Given the description of an element on the screen output the (x, y) to click on. 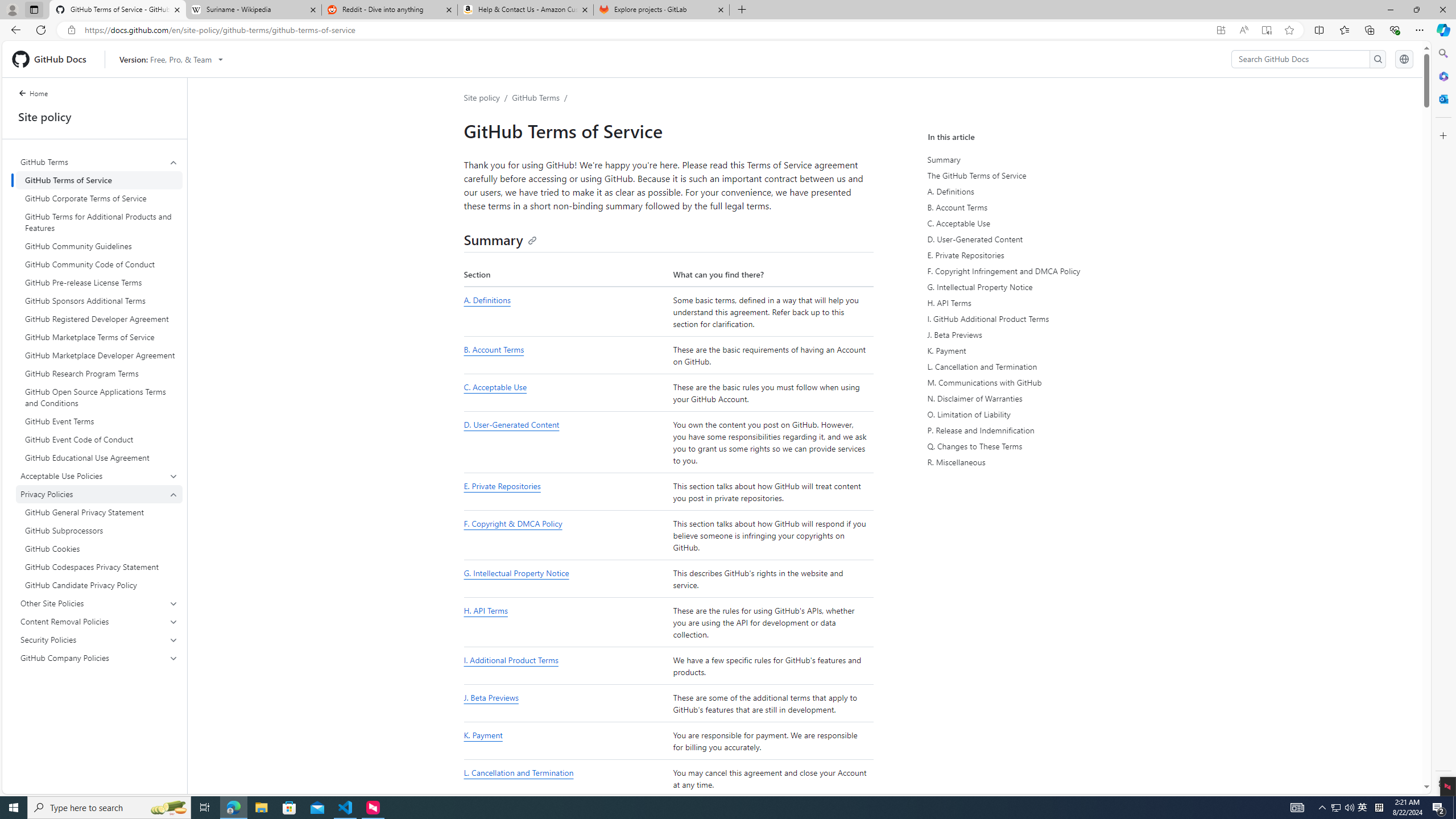
Security Policies (99, 639)
B. Account Terms (565, 355)
GitHub Terms (99, 162)
A. Definitions (1032, 191)
GitHub Research Program Terms (99, 373)
Select language: current language is English (1403, 58)
GitHub Terms for Additional Products and Features (99, 222)
E. Private Repositories (565, 492)
L. Cancellation and Termination (518, 772)
